Given the description of an element on the screen output the (x, y) to click on. 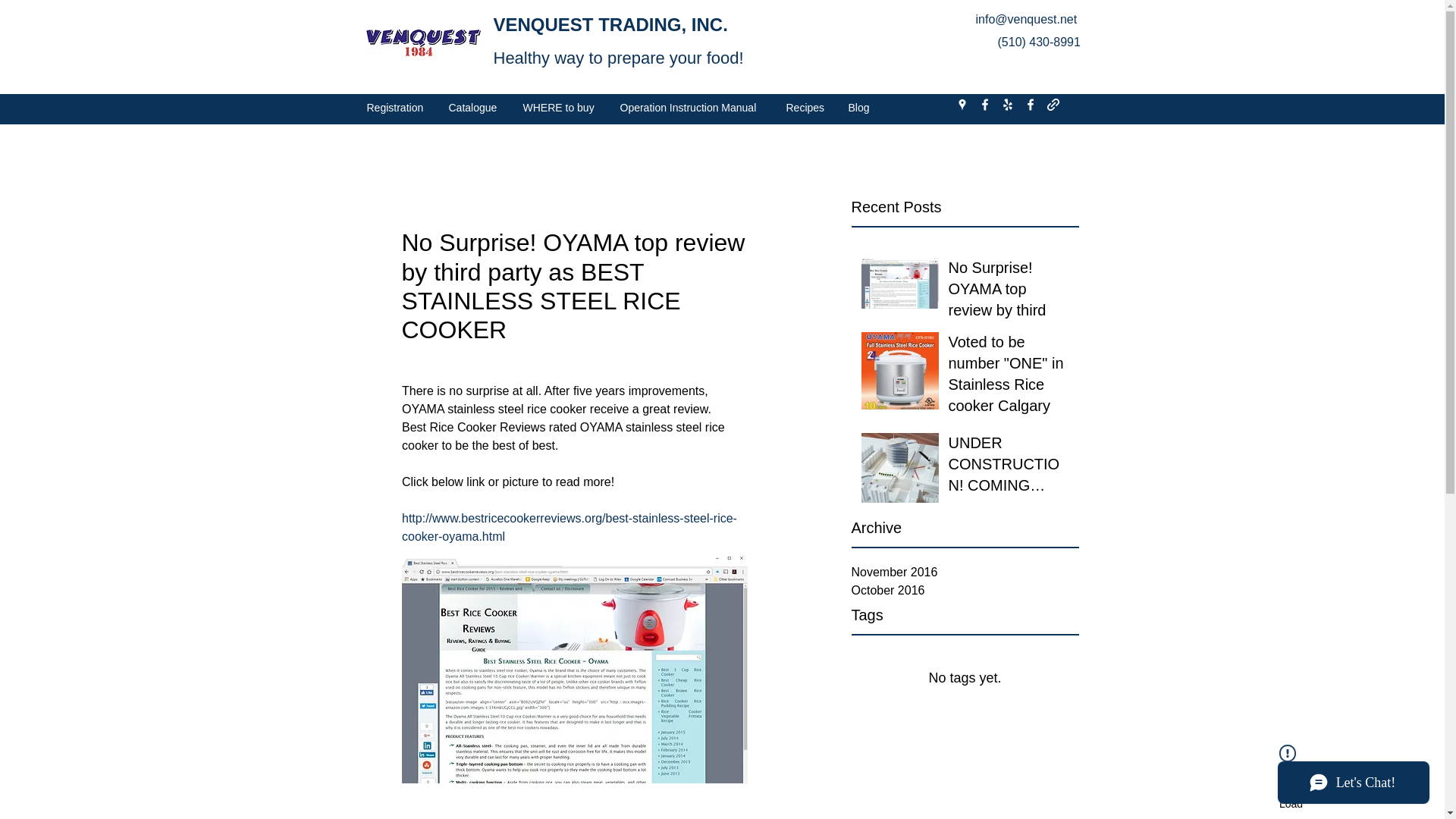
Catalogue (473, 107)
WHERE to buy (559, 107)
UNDER CONSTRUCTION! COMING SOON! (1007, 467)
Registration (395, 107)
Recipes (805, 107)
October 2016 (964, 590)
Operation Instruction Manual (691, 107)
Voted to be number "ONE" in Stainless Rice cooker Calgary (1007, 376)
Venquest Logo.jpg (422, 43)
November 2016 (964, 572)
Blog (859, 107)
